Given the description of an element on the screen output the (x, y) to click on. 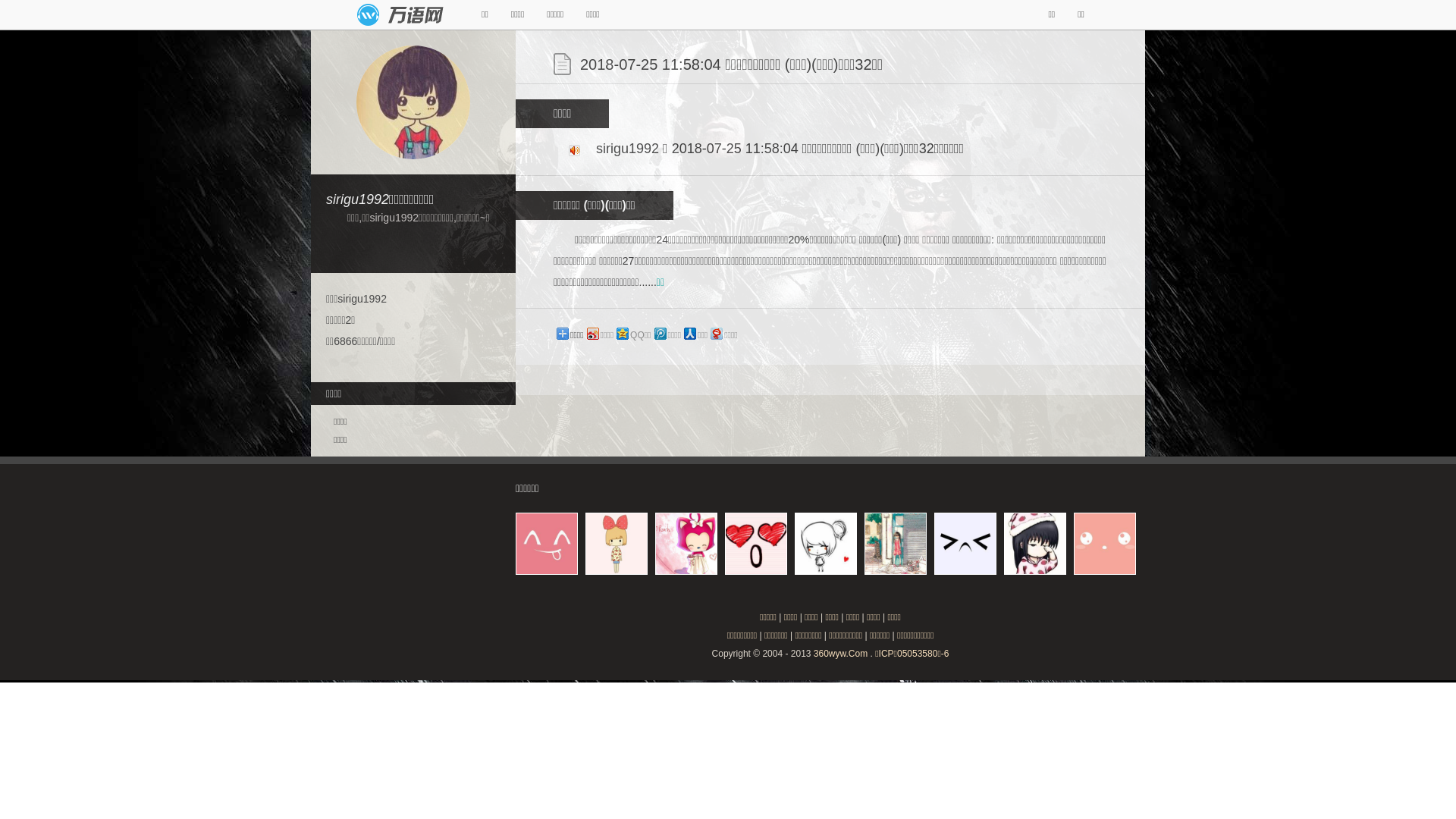
360wyw.Com Element type: text (840, 653)
